Given the description of an element on the screen output the (x, y) to click on. 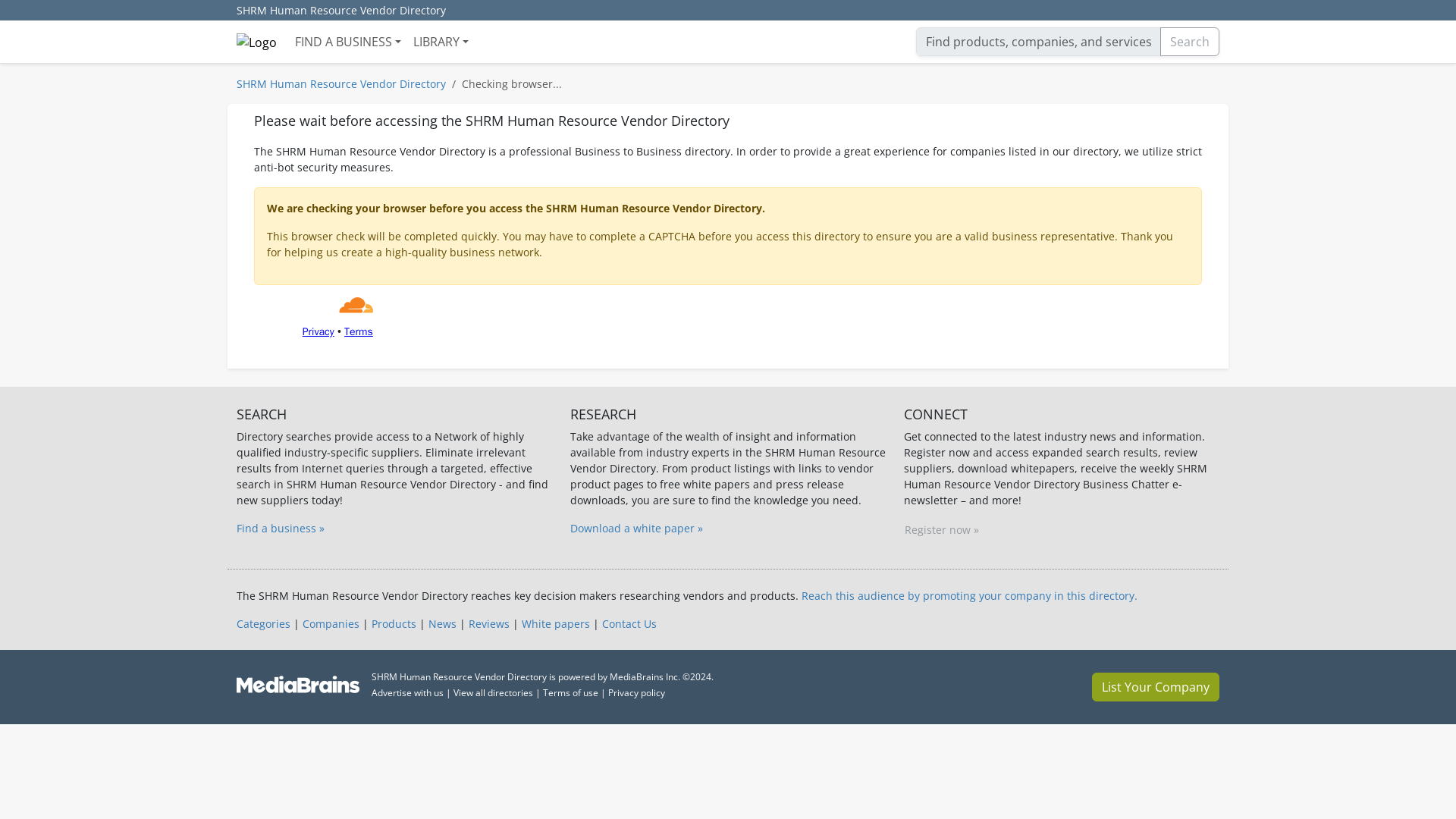
White papers (555, 623)
LIBRARY (440, 41)
Reviews (488, 623)
Companies (330, 623)
Advertise with us (407, 692)
FIND A BUSINESS (347, 41)
Contact Us (629, 623)
List Your Company (1156, 686)
Categories (262, 623)
Products (393, 623)
